Given the description of an element on the screen output the (x, y) to click on. 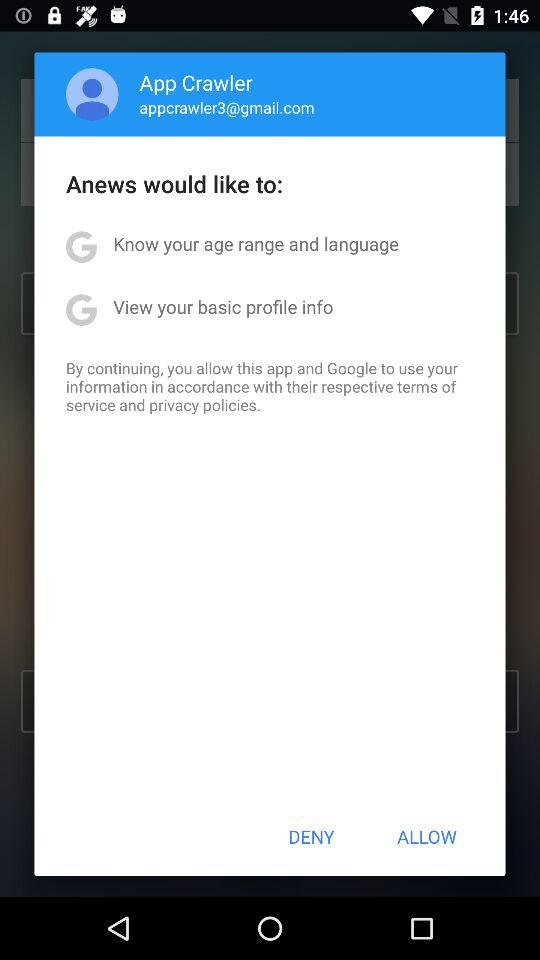
choose the deny icon (311, 836)
